Given the description of an element on the screen output the (x, y) to click on. 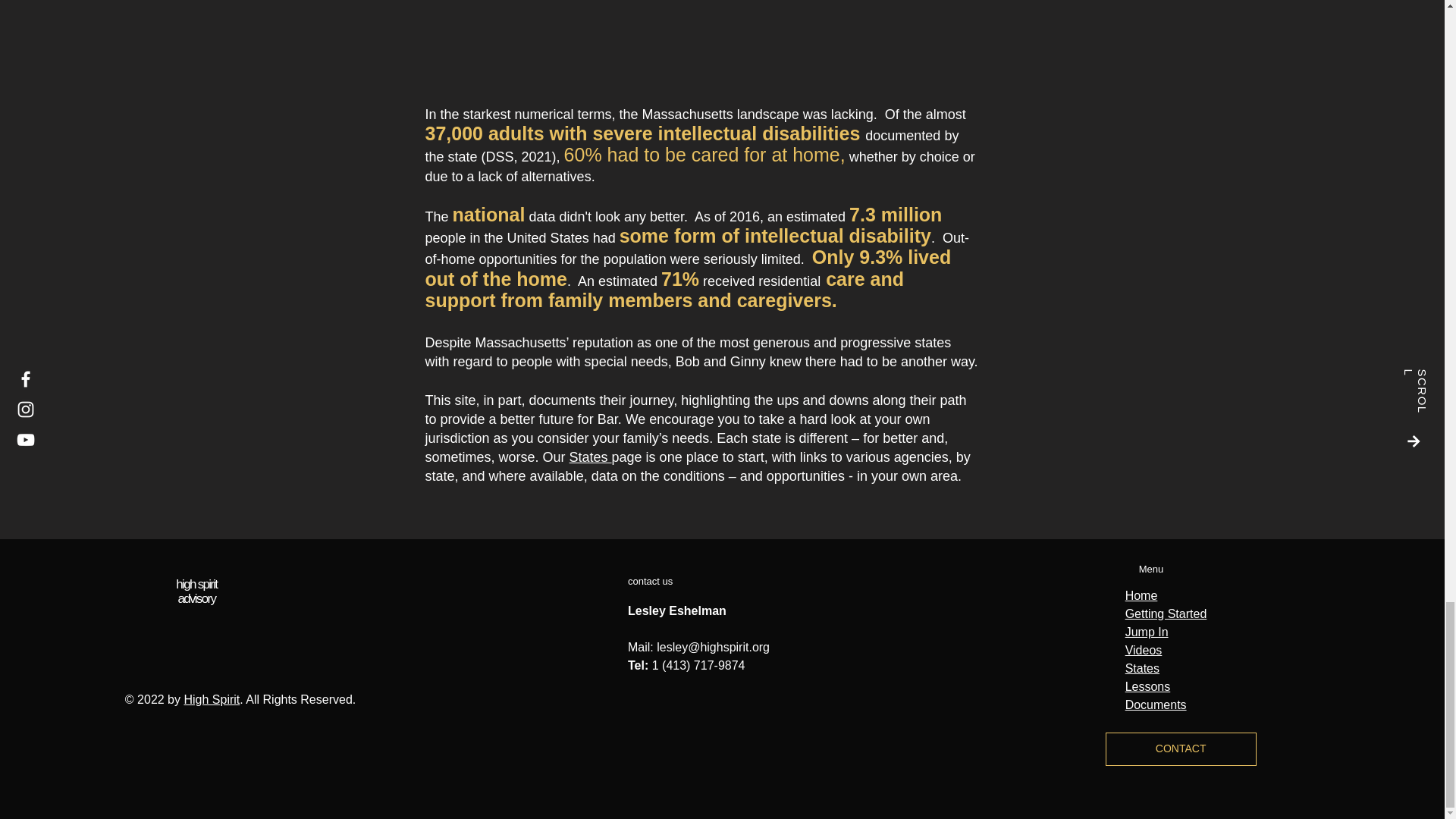
Documents (1155, 704)
High Spirit (211, 698)
Lessons (1147, 686)
high spirit (196, 584)
Videos (1143, 649)
States  (590, 457)
Home (1141, 594)
Jump In (1147, 631)
Getting Started (1166, 613)
CONTACT (1180, 748)
